Given the description of an element on the screen output the (x, y) to click on. 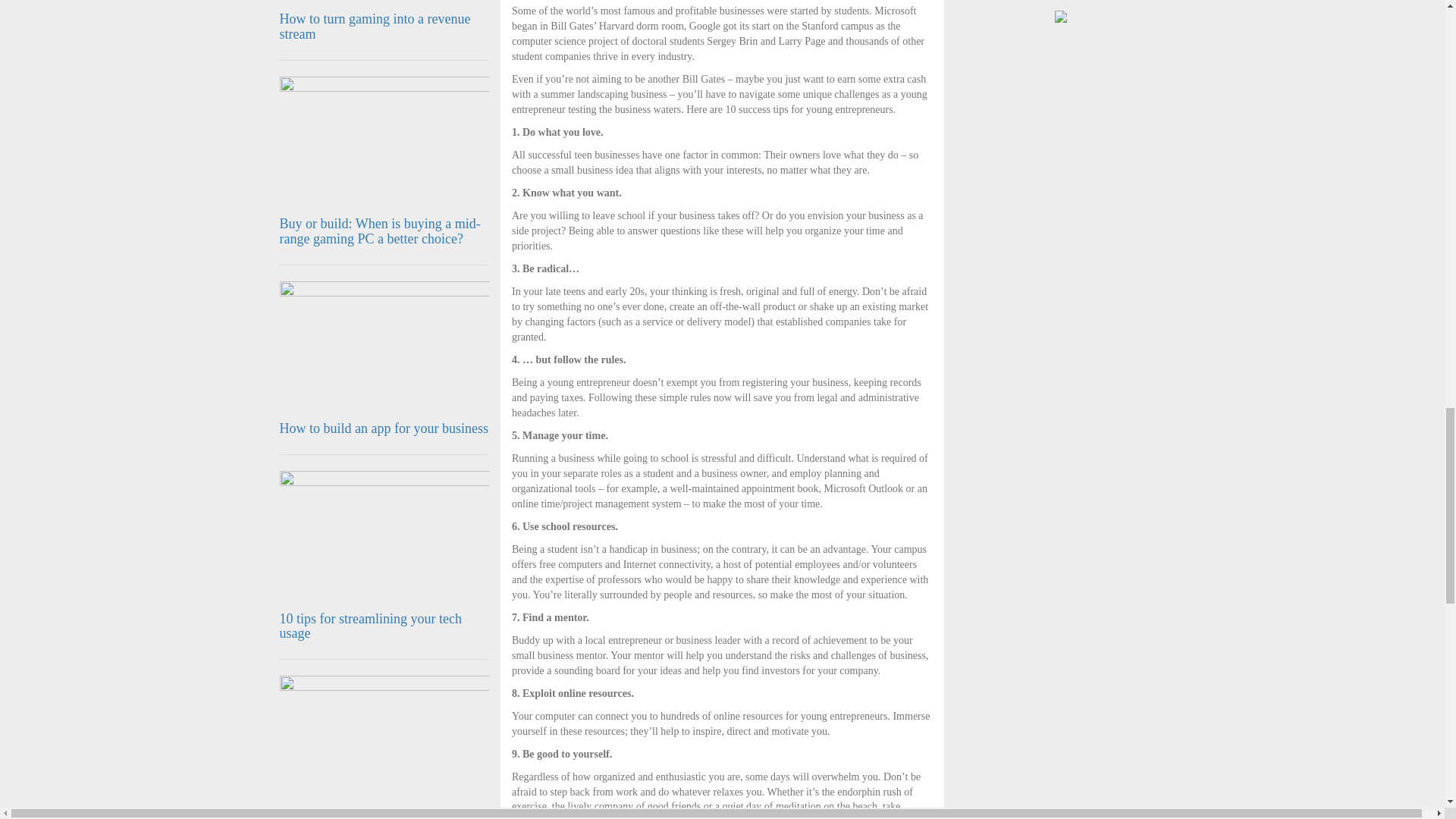
How to turn gaming into a revenue stream (374, 26)
How to build an app for your business (383, 427)
